Given the description of an element on the screen output the (x, y) to click on. 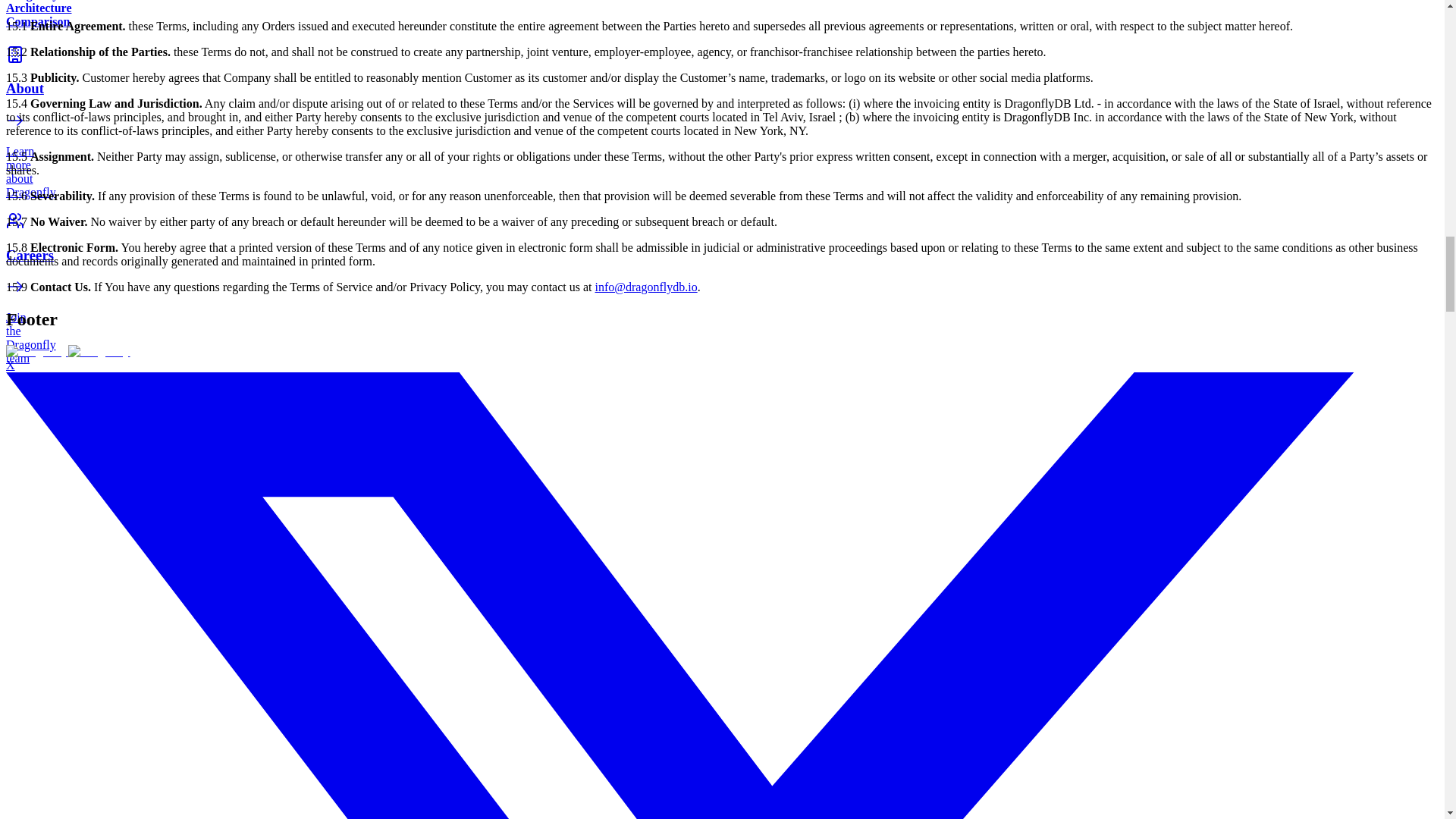
Redis and Dragonfly Architecture Comparison (35, 14)
